Given the description of an element on the screen output the (x, y) to click on. 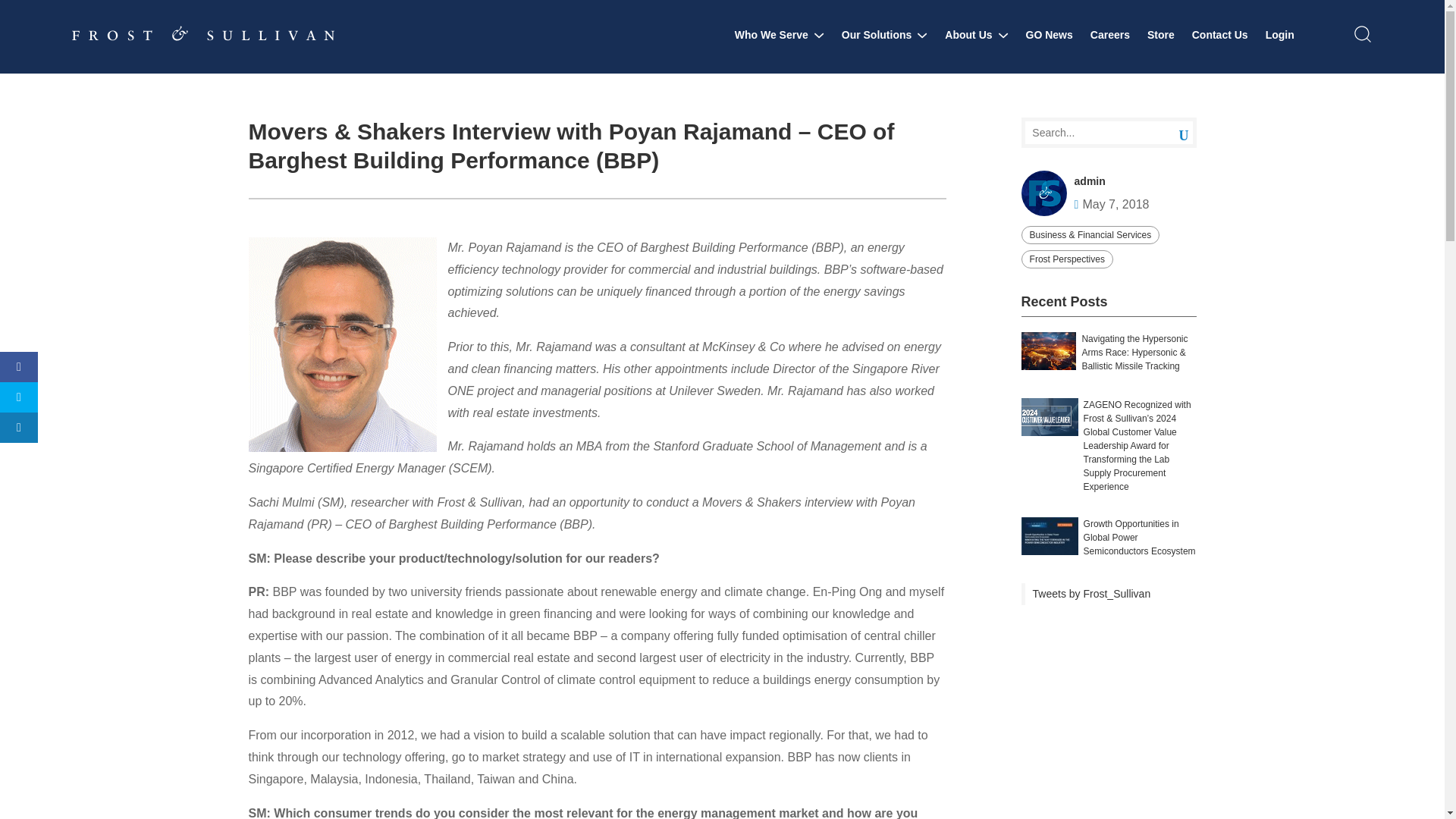
Who We Serve (779, 35)
Search (1172, 132)
